Given the description of an element on the screen output the (x, y) to click on. 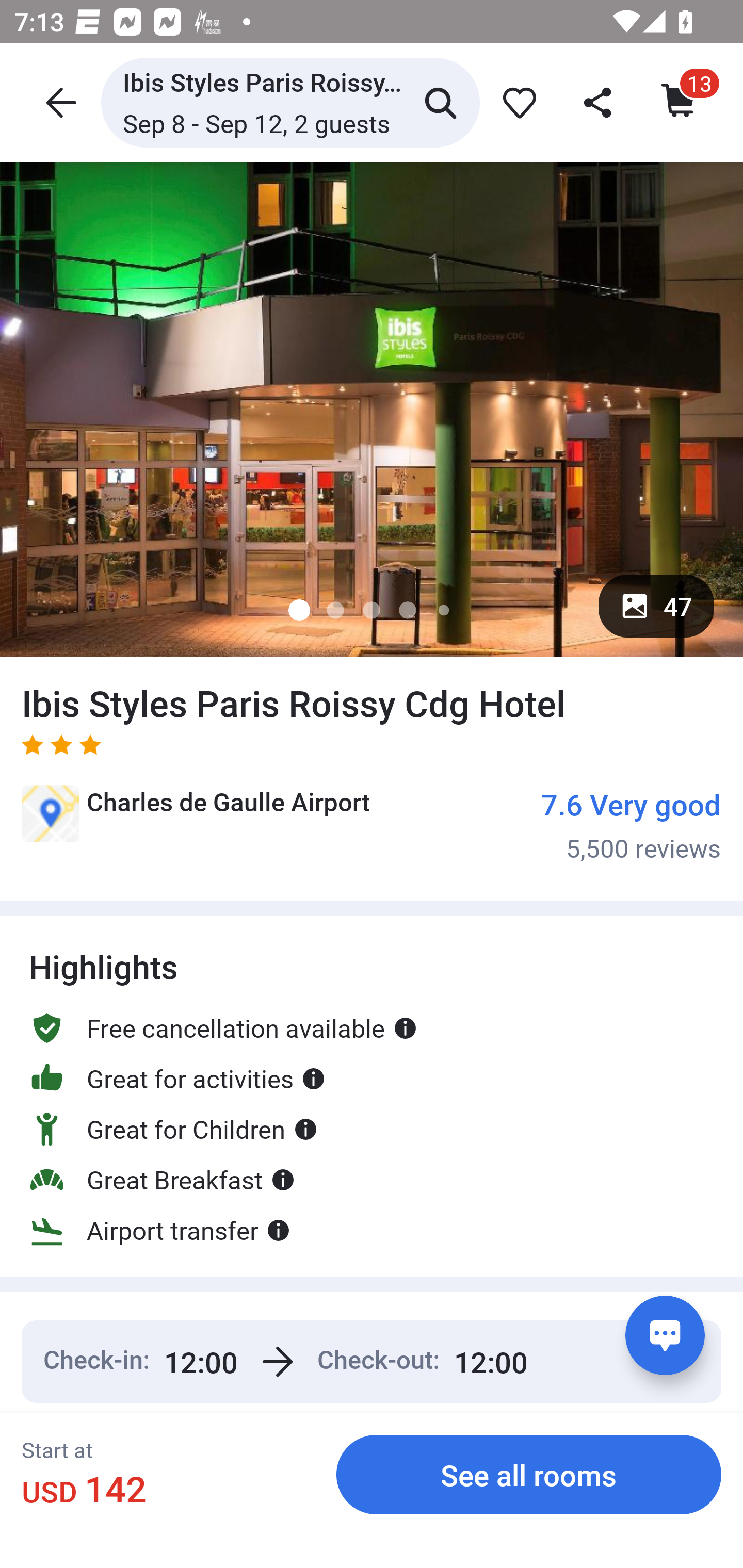
header icon (59, 102)
favorite_icon 0dbe6efb (515, 102)
share_header_icon (598, 102)
Cart icon cart_item_count 13 (679, 102)
image (371, 408)
47 (656, 605)
Charles de Gaulle Airport (195, 819)
7.6 Very good 5,500 reviews (630, 824)
Free cancellation available (222, 1027)
Great for activities (177, 1077)
Great for Children (173, 1128)
Great Breakfast (161, 1179)
Airport transfer (159, 1229)
See all rooms (528, 1474)
